Given the description of an element on the screen output the (x, y) to click on. 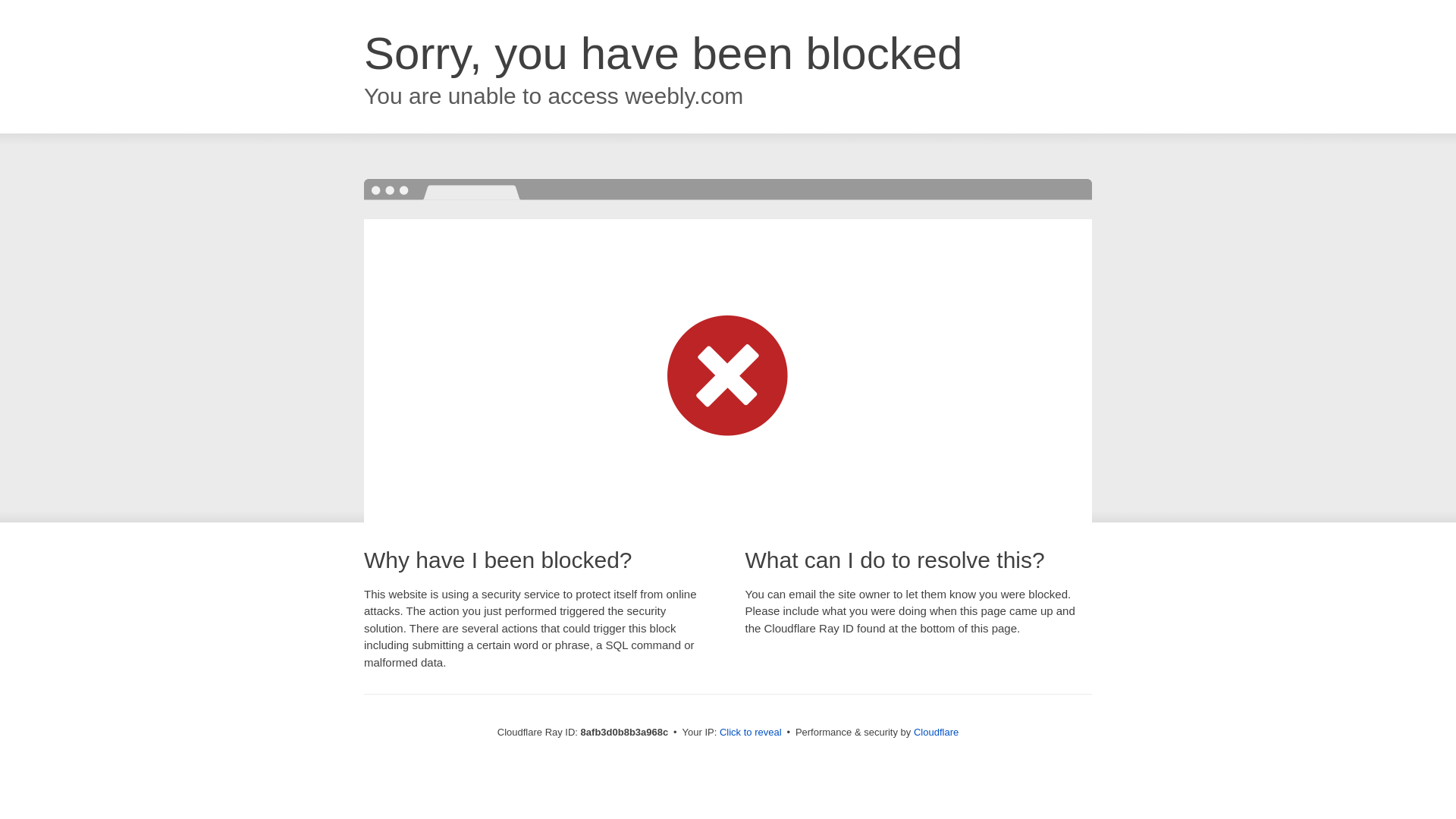
Cloudflare (936, 731)
Click to reveal (750, 732)
